Given the description of an element on the screen output the (x, y) to click on. 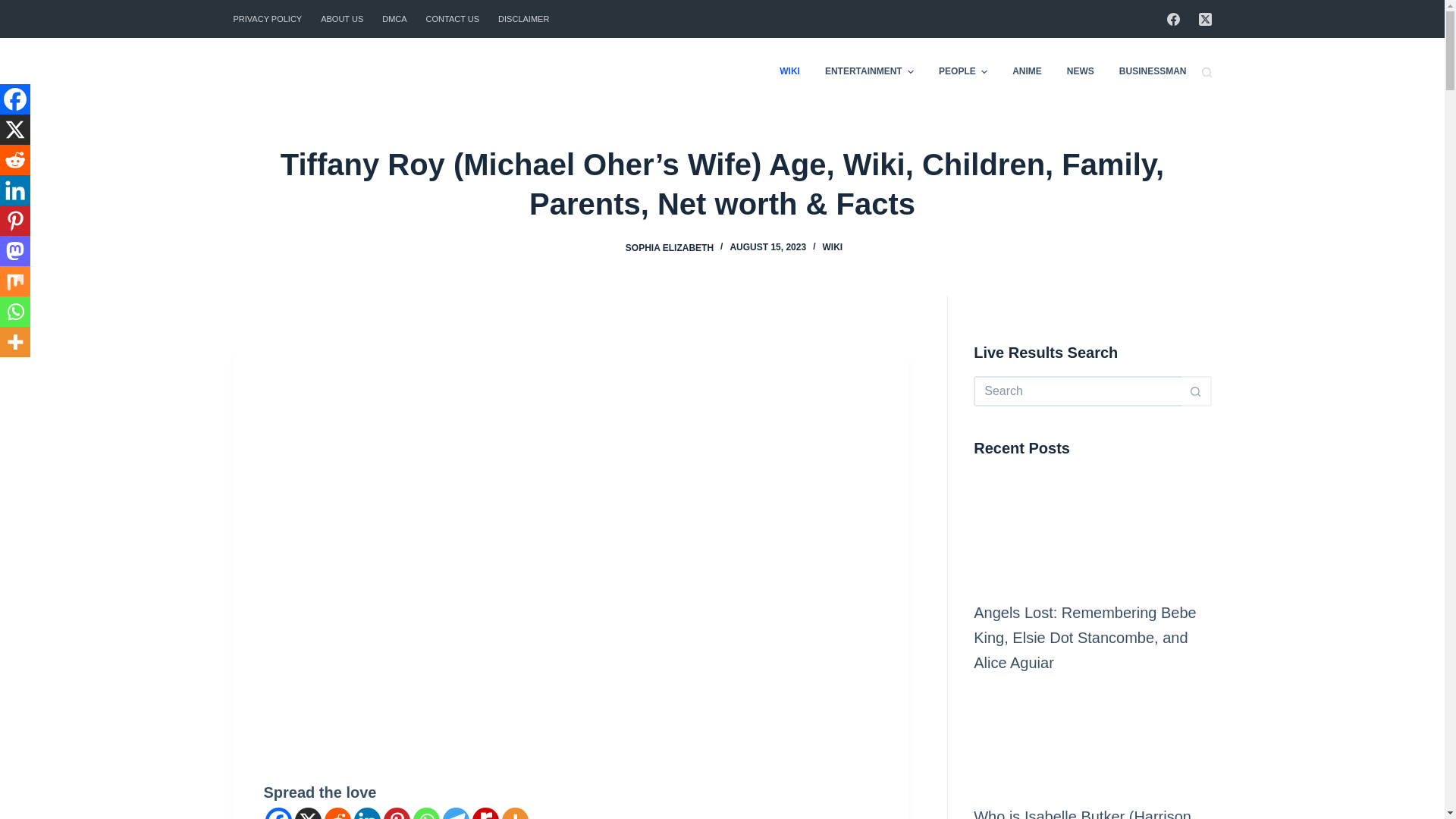
ABOUT US (341, 18)
X (307, 813)
PRIVACY POLICY (271, 18)
ENTERTAINMENT (869, 71)
Linkedin (366, 813)
Facebook (278, 813)
More (515, 813)
DMCA (394, 18)
Reddit (337, 813)
Skip to content (15, 7)
